Given the description of an element on the screen output the (x, y) to click on. 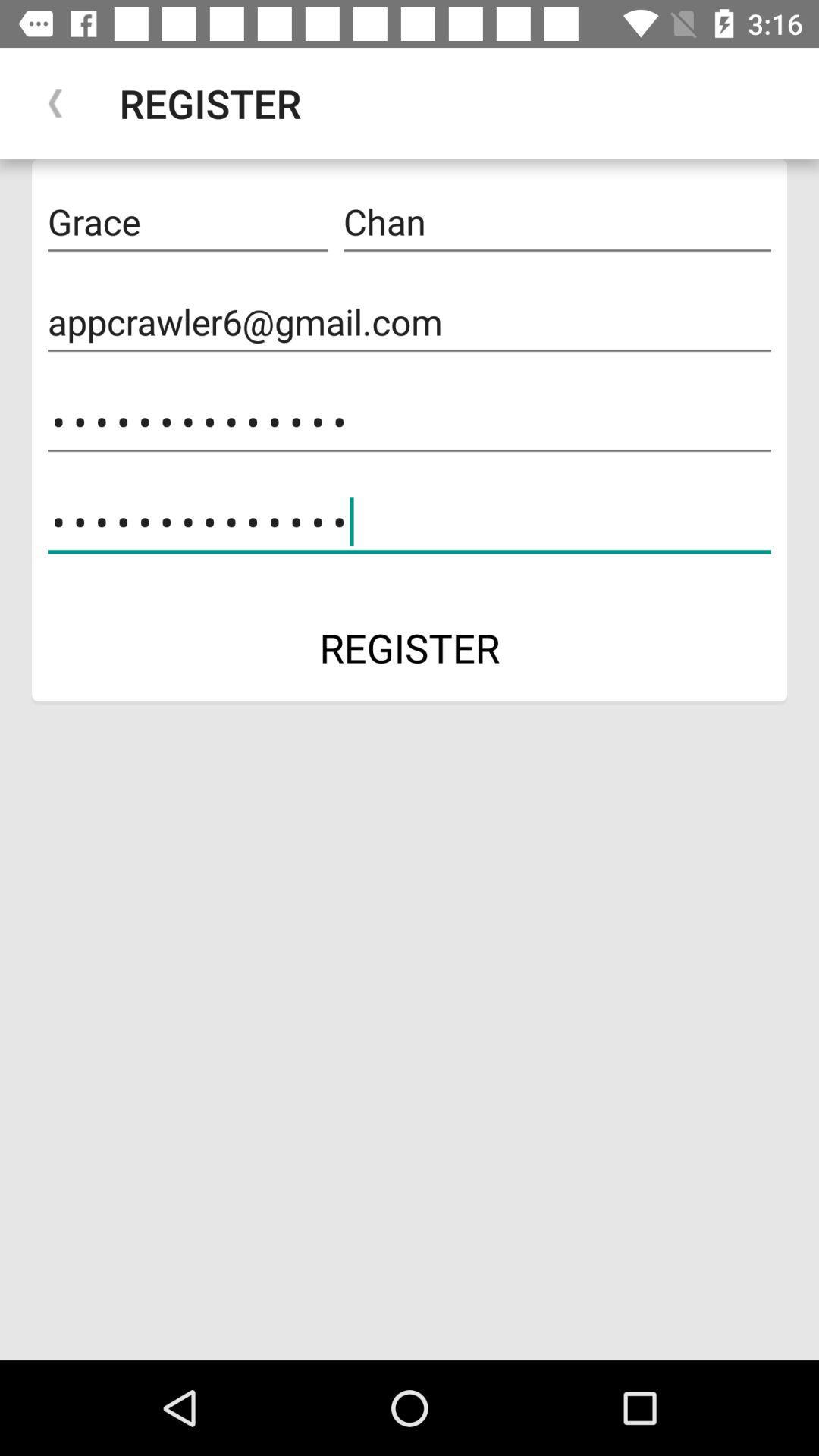
press the item next to the grace icon (557, 222)
